Given the description of an element on the screen output the (x, y) to click on. 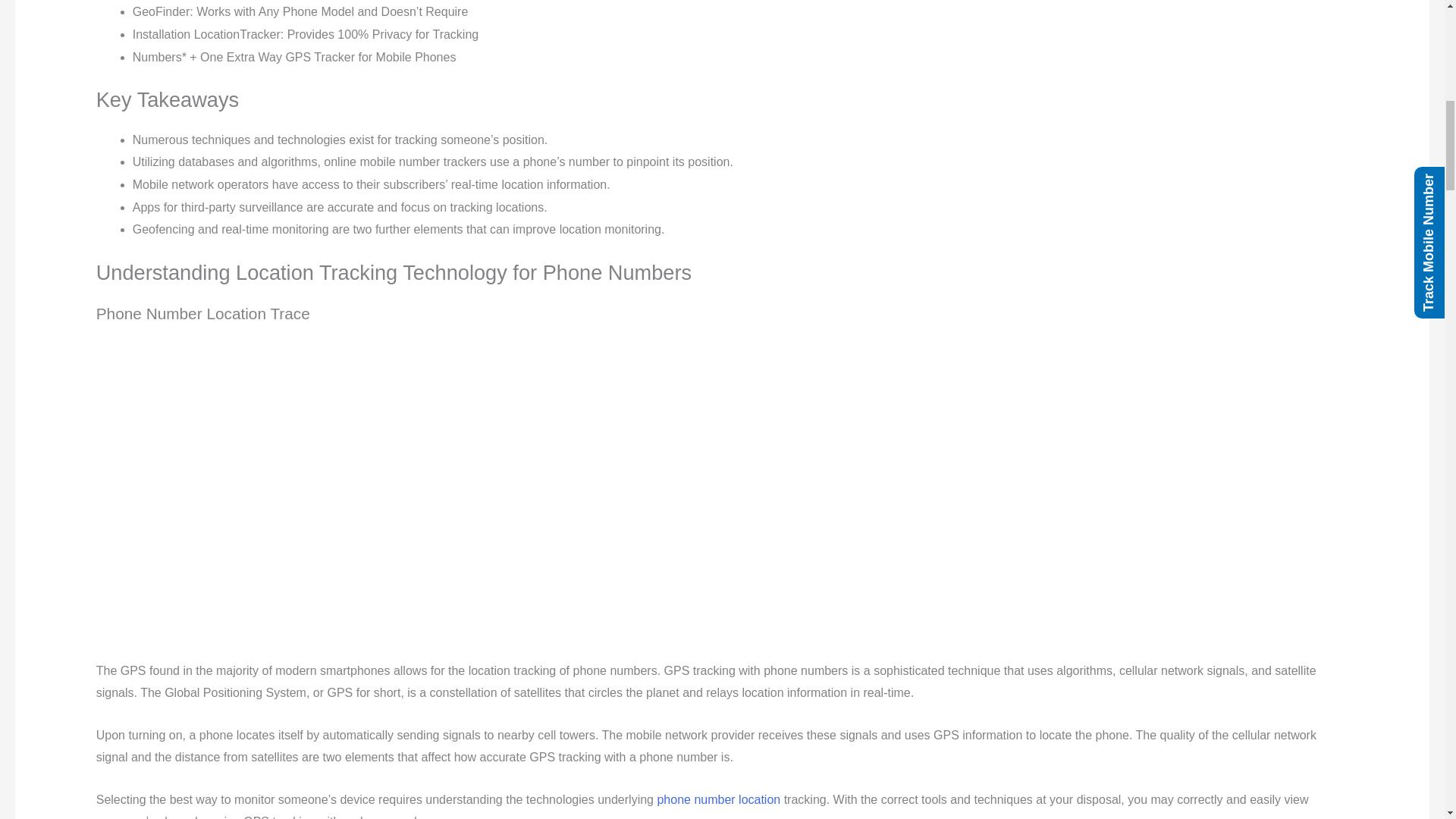
Click the link to check more about Track Mobile Phone (718, 799)
phone number location (718, 799)
